Given the description of an element on the screen output the (x, y) to click on. 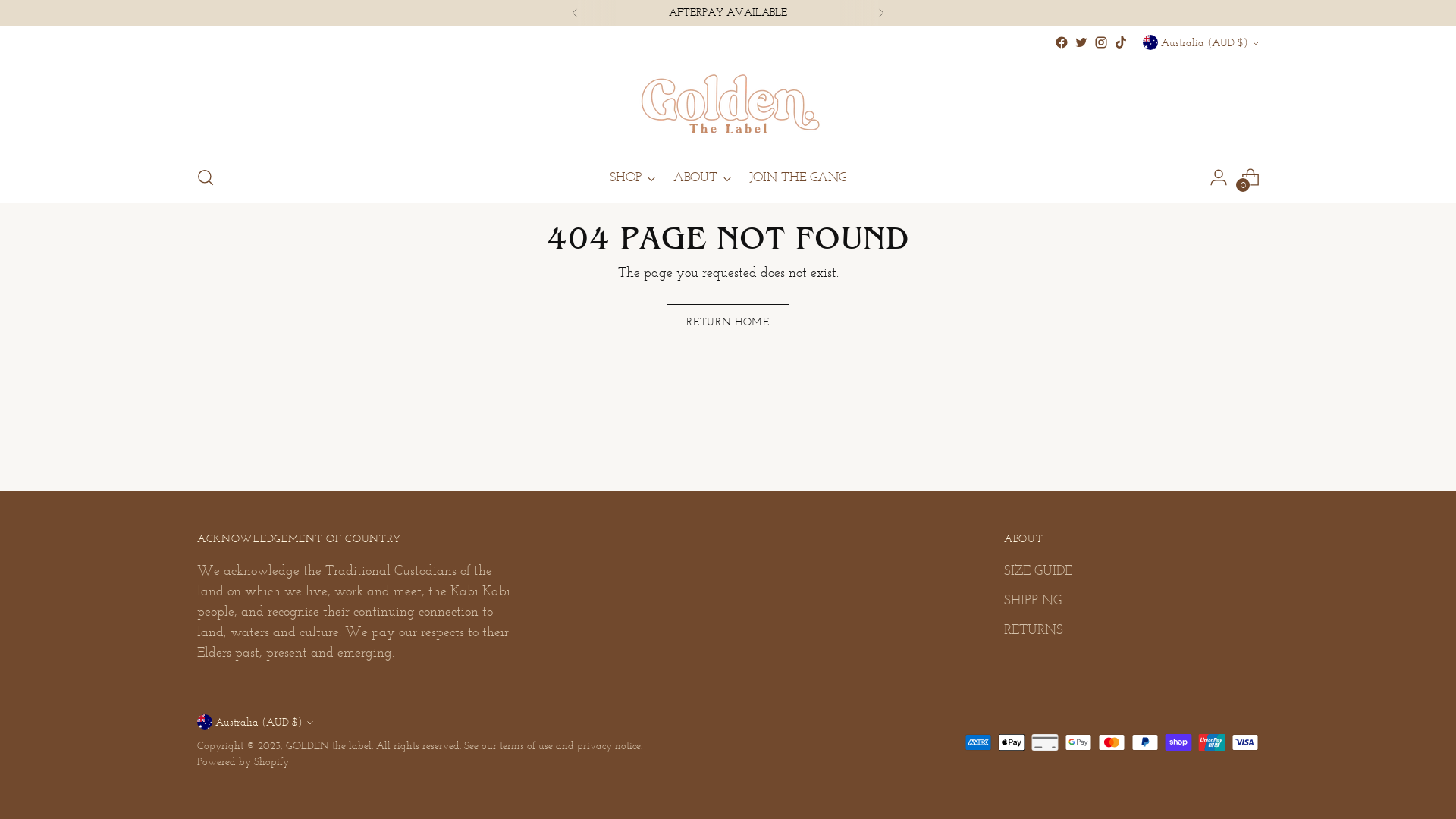
Previous Element type: hover (574, 12)
RETURNS Element type: text (1033, 629)
0 Element type: text (1250, 177)
SIZE GUIDE Element type: text (1038, 569)
RETURN HOME Element type: text (727, 322)
SHIPPING Element type: text (1032, 599)
GOLDEN the label on Instagram Element type: hover (1100, 42)
SHOP Element type: text (632, 177)
Powered by Shopify Element type: text (242, 761)
Australia (AUD $) Element type: text (1200, 42)
GOLDEN the label on Twitter Element type: hover (1081, 42)
Next Element type: hover (880, 12)
GOLDEN the label on Tiktok Element type: hover (1120, 42)
GOLDEN the label on Facebook Element type: hover (1061, 42)
JOIN THE GANG Element type: text (797, 177)
Australia (AUD $) Element type: text (255, 721)
GOLDEN the label Element type: text (328, 745)
ABOUT Element type: text (702, 177)
